Given the description of an element on the screen output the (x, y) to click on. 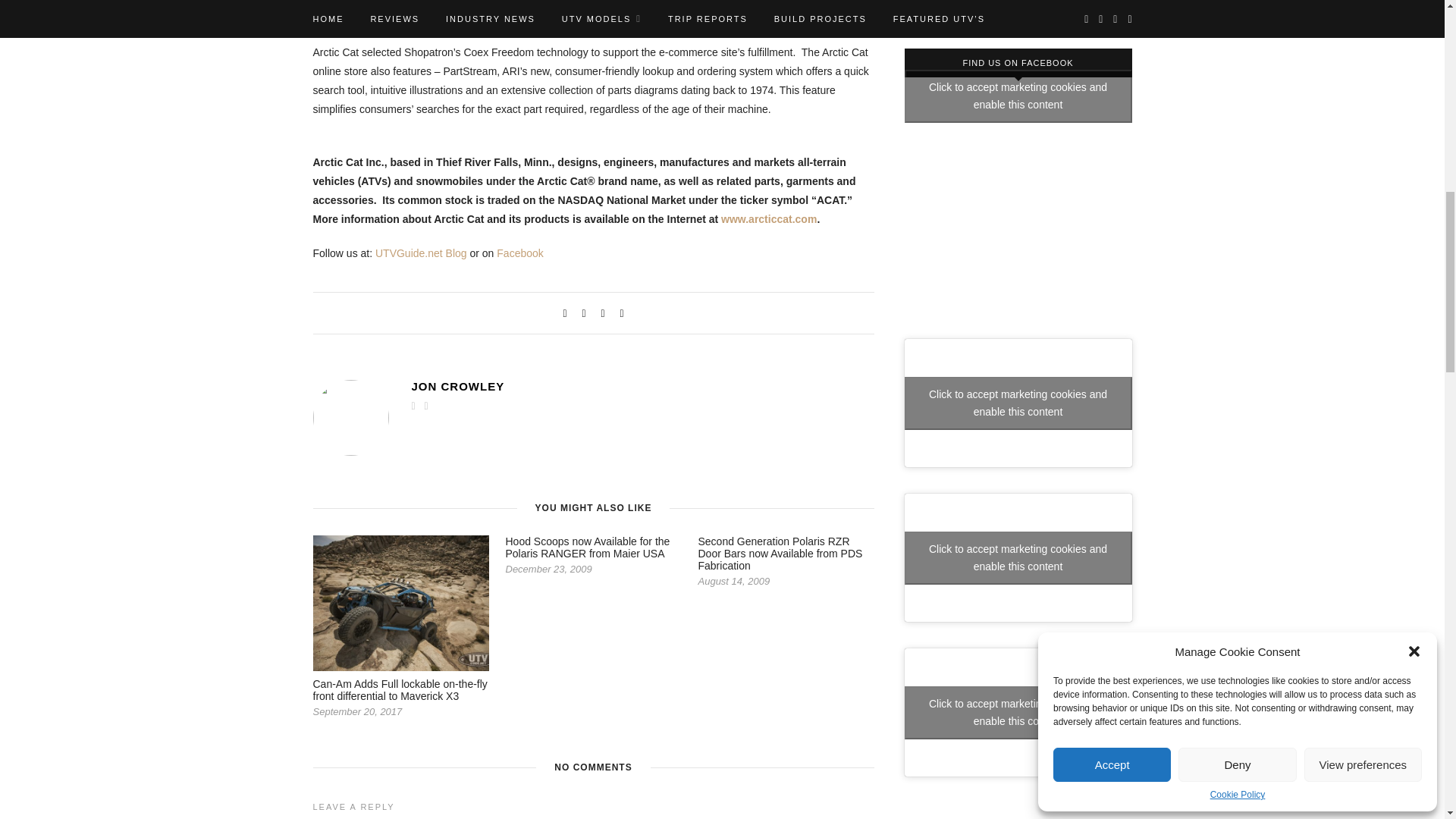
3rd party ad content (1017, 11)
3rd party ad content (1017, 811)
3rd party ad content (1017, 217)
Posts by Jon Crowley (641, 386)
